Given the description of an element on the screen output the (x, y) to click on. 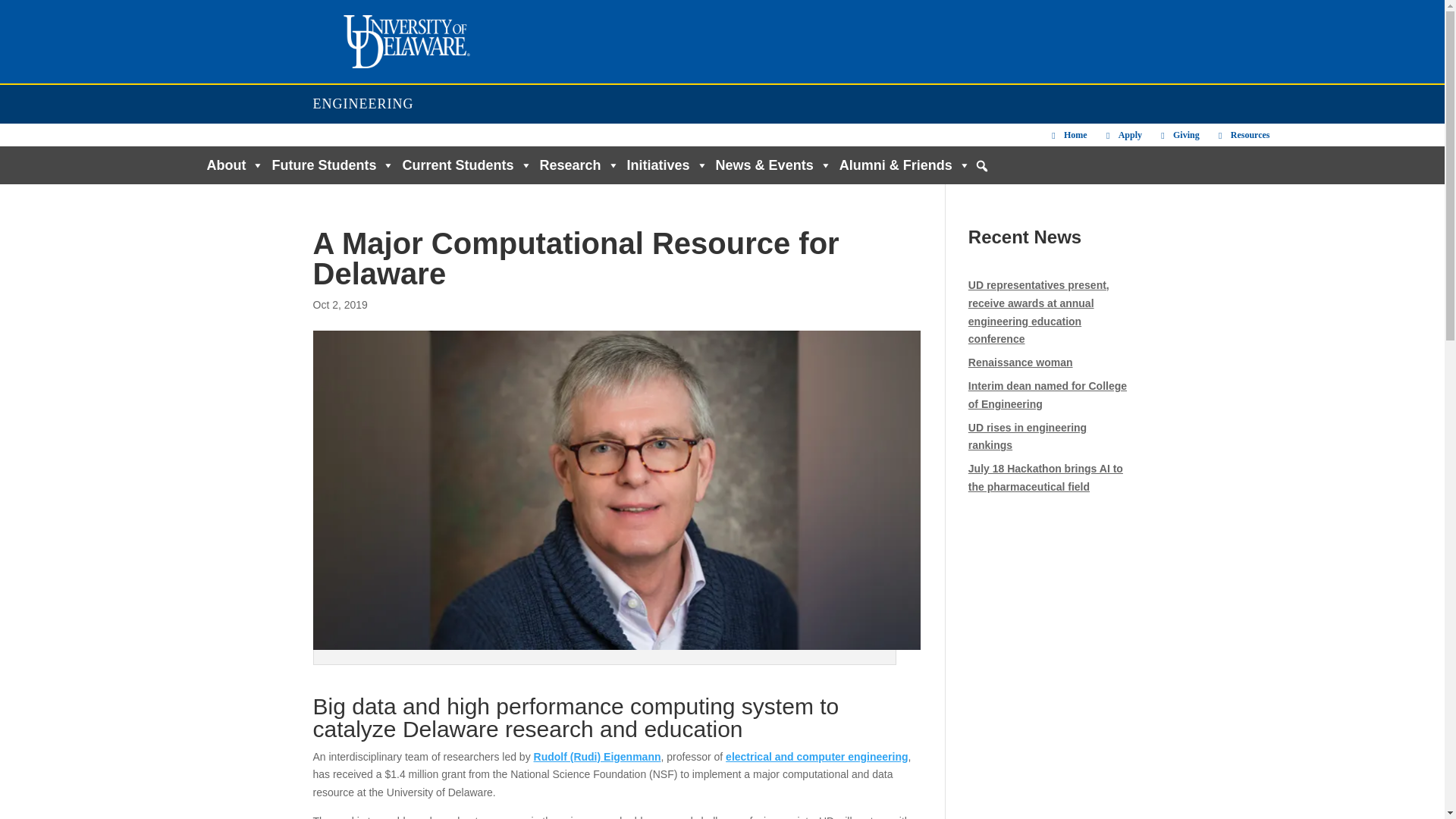
Home (1067, 134)
Future Students (328, 165)
Giving (1178, 134)
Resources (1242, 134)
About (230, 165)
ENGINEERING (363, 103)
Apply (1122, 134)
